Given the description of an element on the screen output the (x, y) to click on. 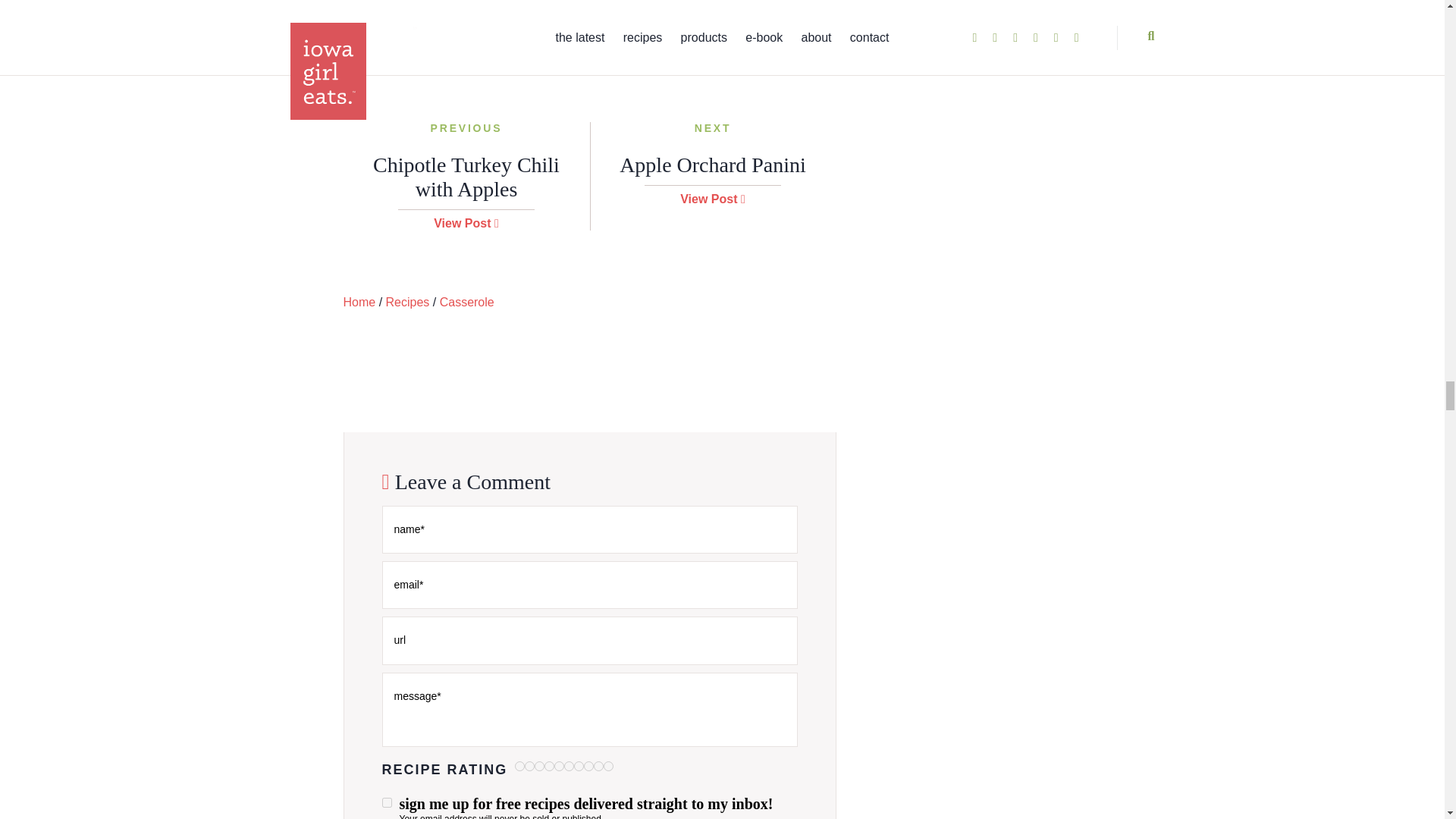
1.5 (539, 766)
3.5 (578, 766)
0.5 (519, 766)
on (386, 802)
2 (549, 766)
5 (608, 766)
4 (588, 766)
1 (529, 766)
2.5 (559, 766)
4.5 (599, 766)
